Given the description of an element on the screen output the (x, y) to click on. 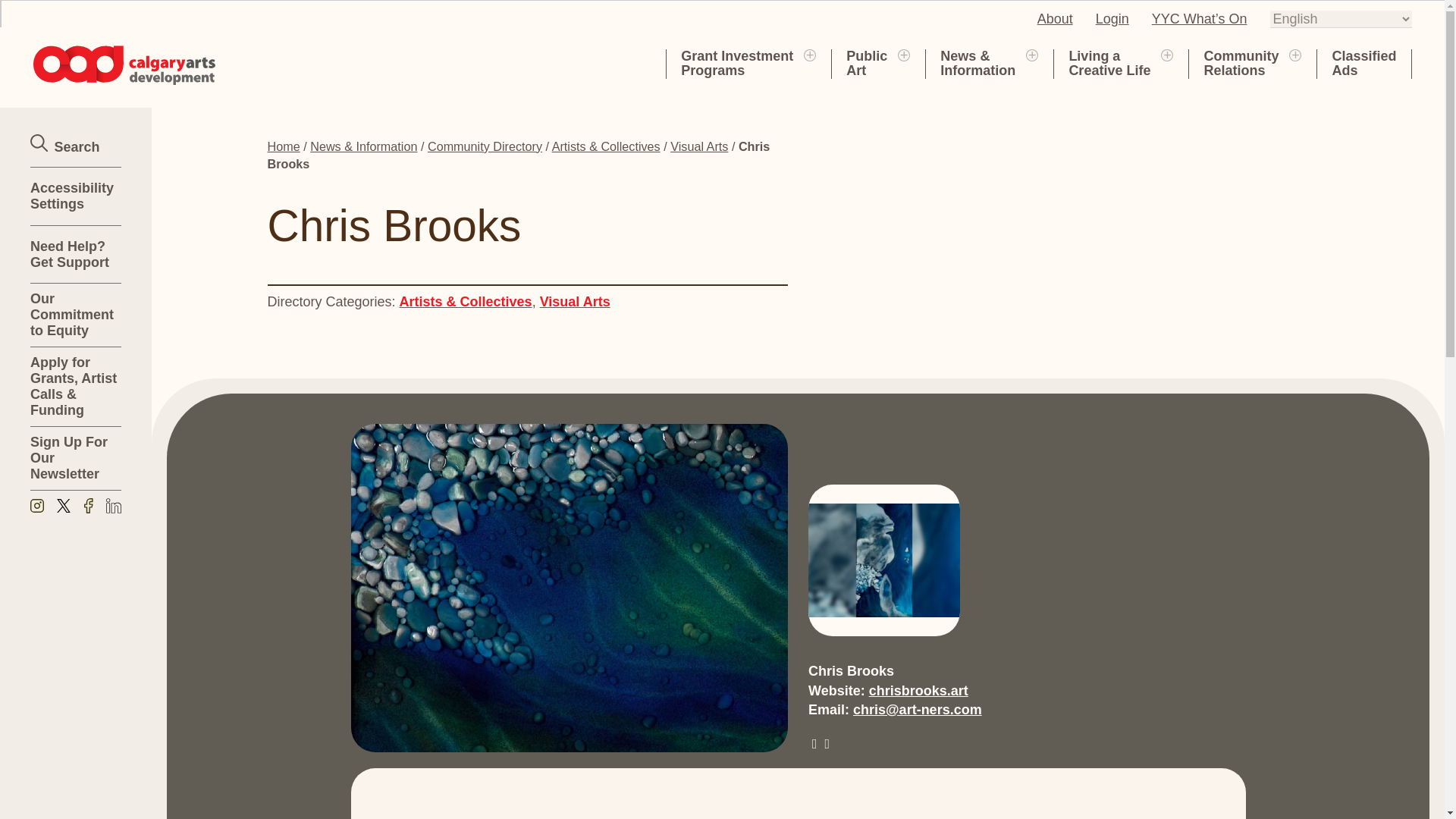
Expand Grant Investment Programs Submenu (809, 54)
About (737, 63)
Chris-Brooks-logo-image (1054, 17)
Expand Public Art Submenu (883, 560)
Visual Arts (904, 54)
Login (575, 301)
Expand Community Relations Submenu (1112, 17)
Expand Living a Creative Life Submenu (865, 63)
